Given the description of an element on the screen output the (x, y) to click on. 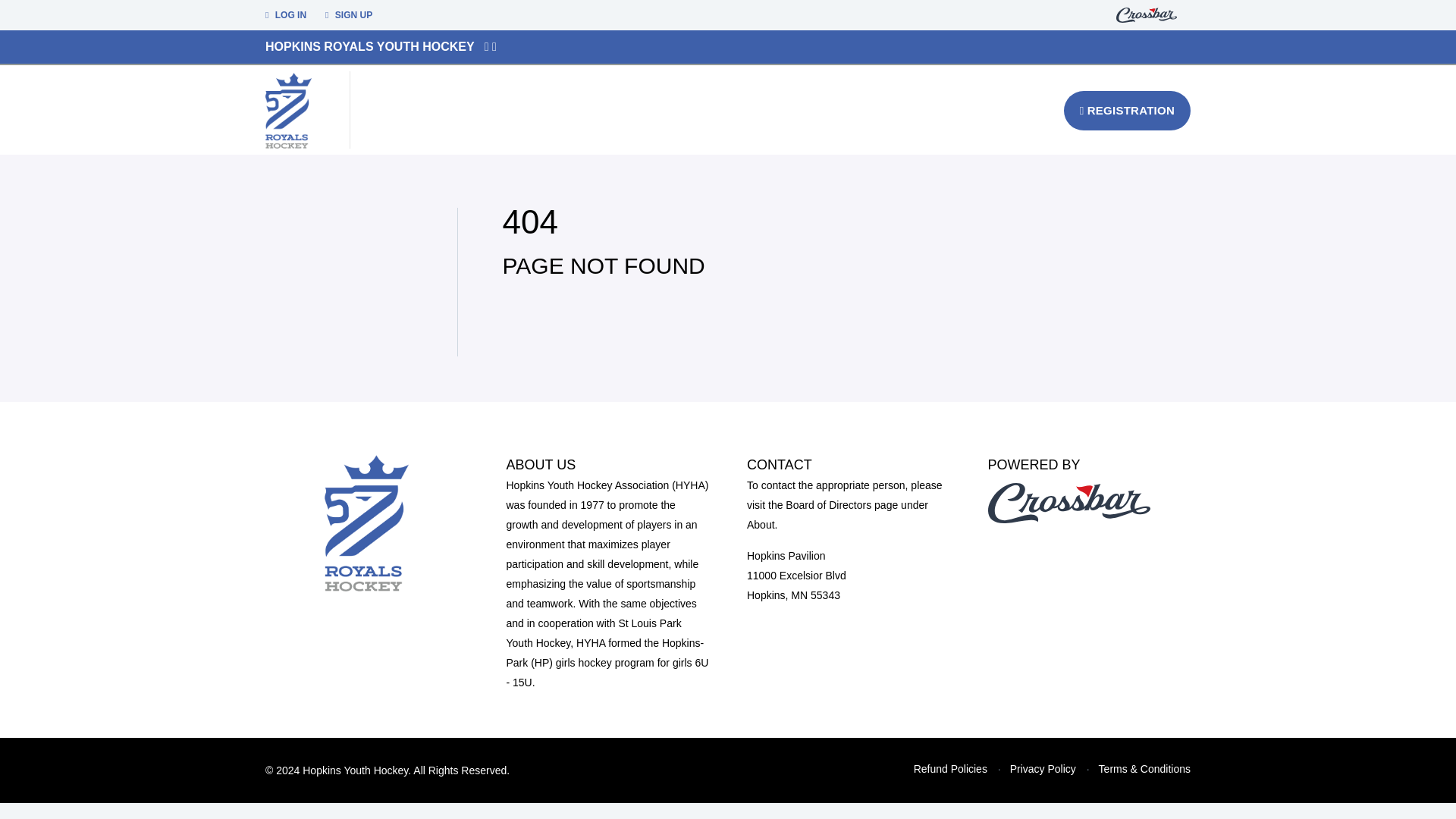
SCHEDULE (829, 110)
PROGRAMS (609, 109)
HOPKINS ROYALS YOUTH HOCKEY (369, 46)
ABOUT (522, 109)
LOG IN (284, 15)
TOURNAMENTS (720, 109)
SIGN UP (348, 15)
